Given the description of an element on the screen output the (x, y) to click on. 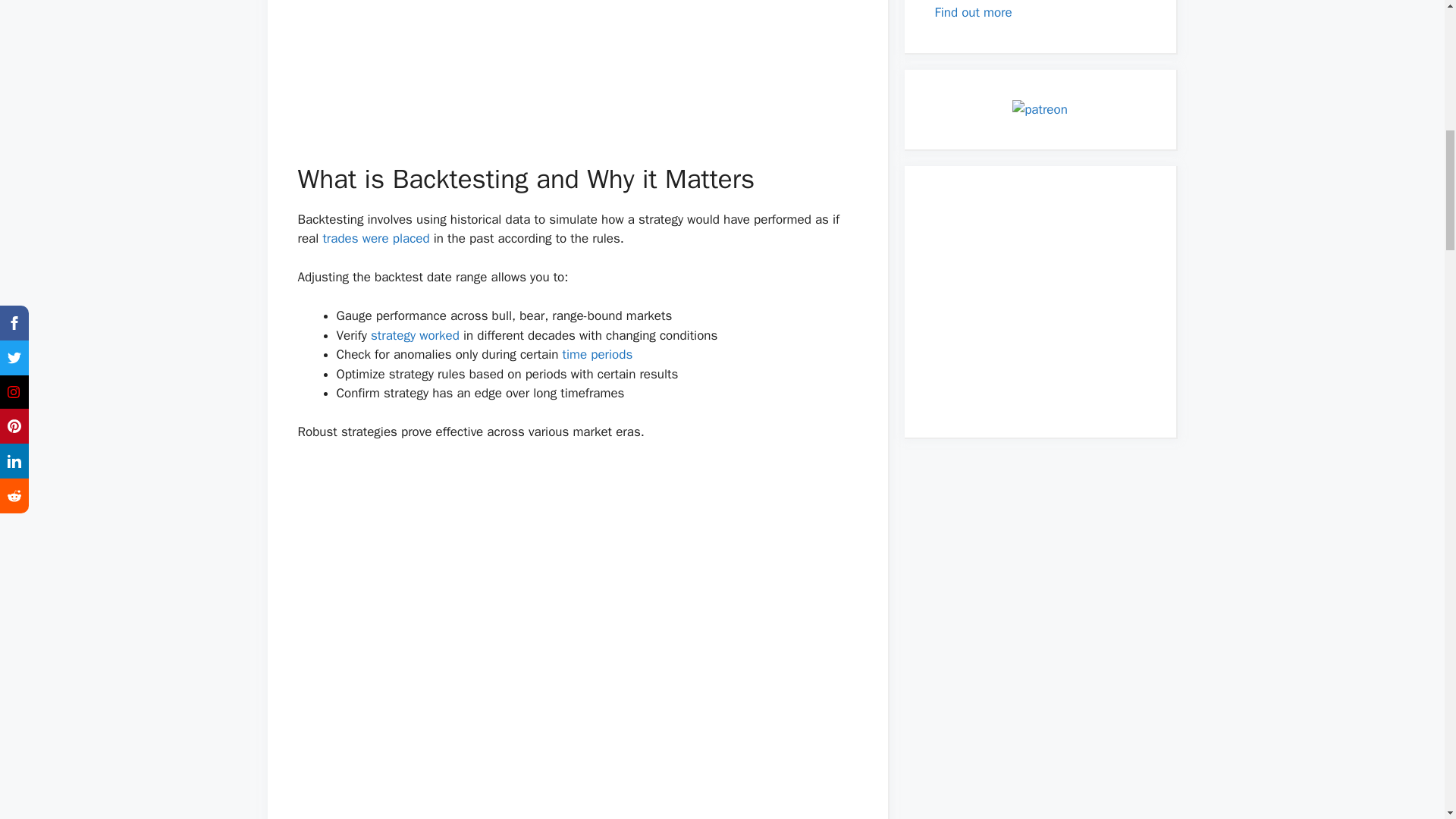
strategy worked (415, 335)
trades were placed (375, 238)
time periods (597, 354)
